Given the description of an element on the screen output the (x, y) to click on. 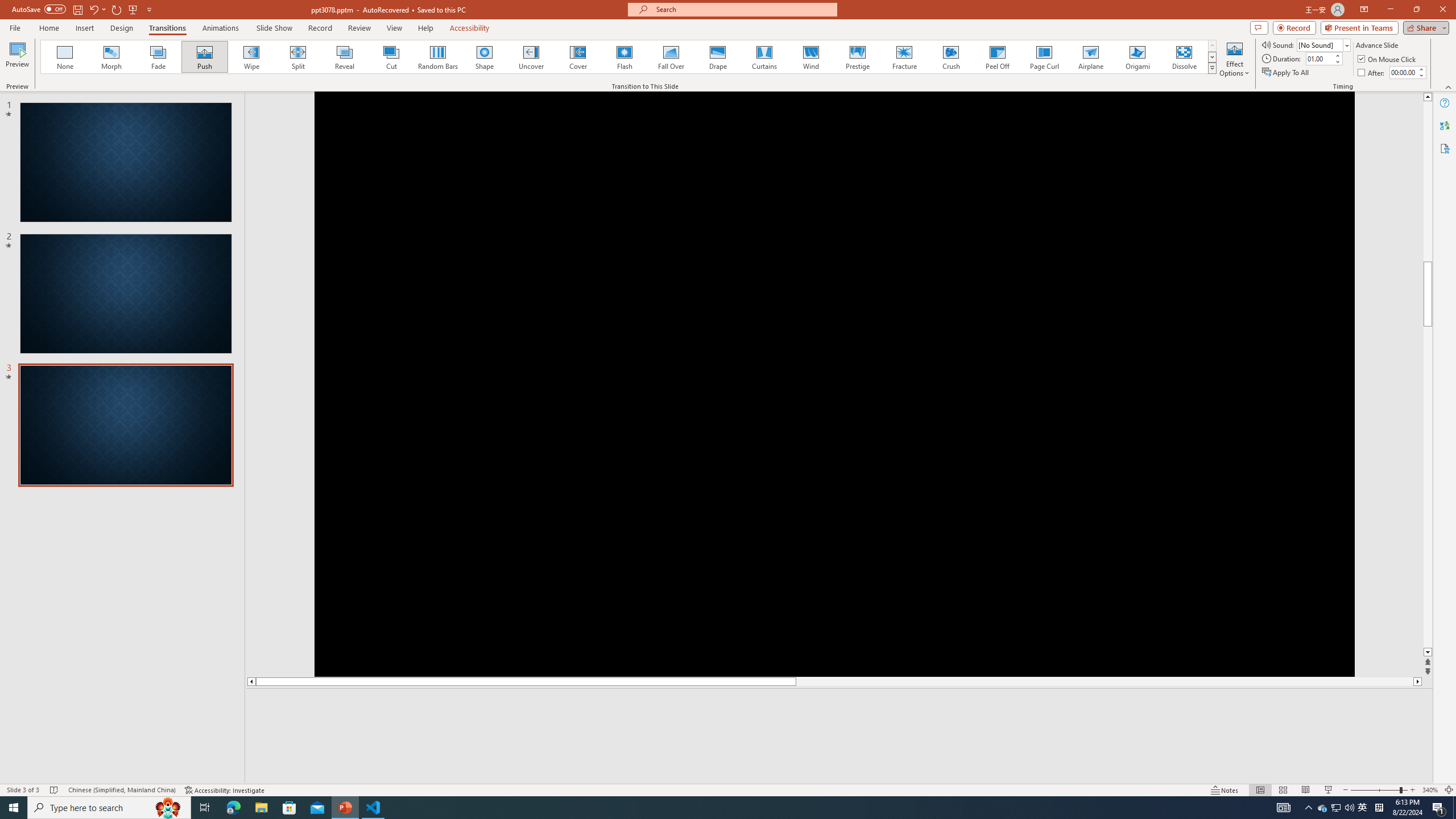
Prestige (857, 56)
Line down (1427, 652)
Peel Off (997, 56)
Push (205, 56)
On Mouse Click (1387, 58)
